Given the description of an element on the screen output the (x, y) to click on. 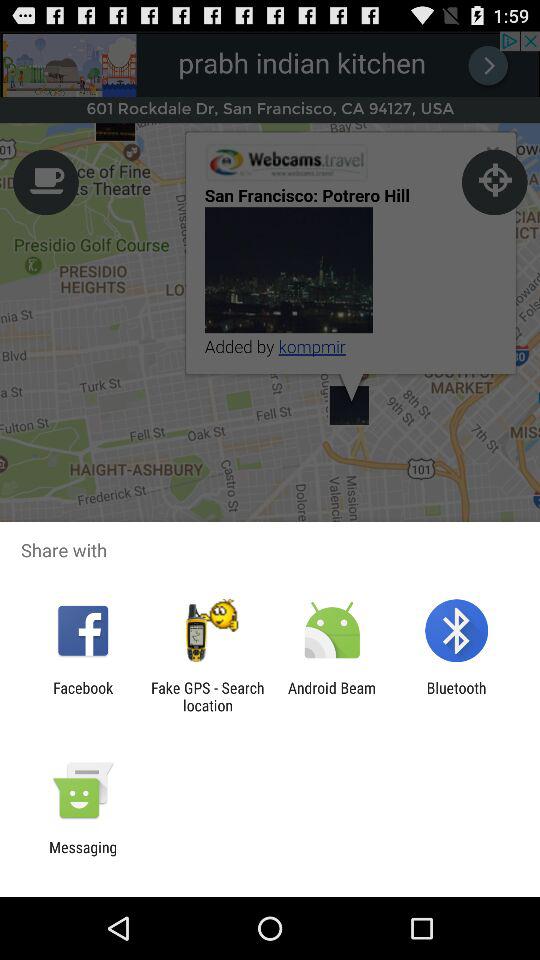
press facebook icon (83, 696)
